Given the description of an element on the screen output the (x, y) to click on. 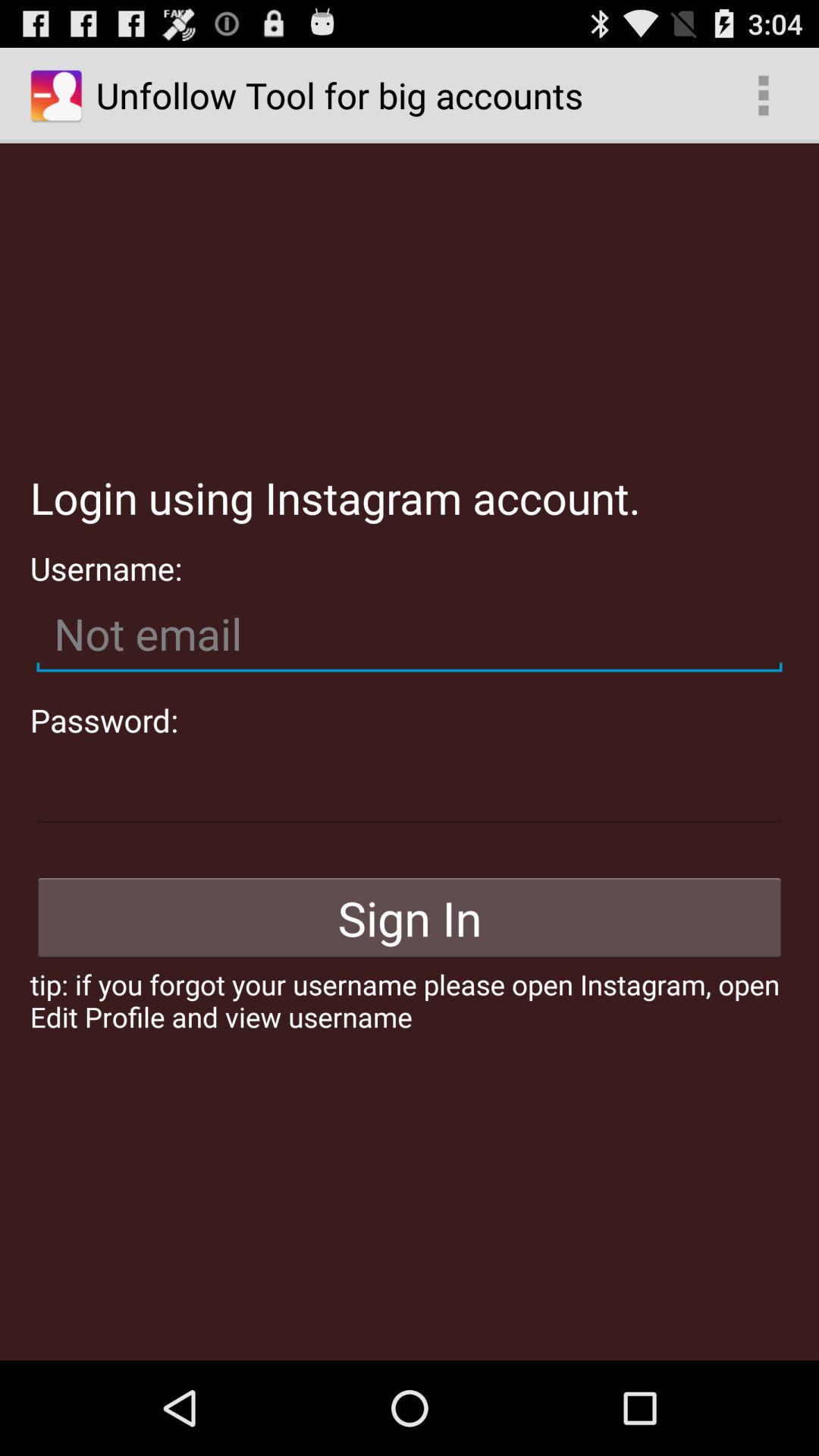
username to log in (409, 633)
